Given the description of an element on the screen output the (x, y) to click on. 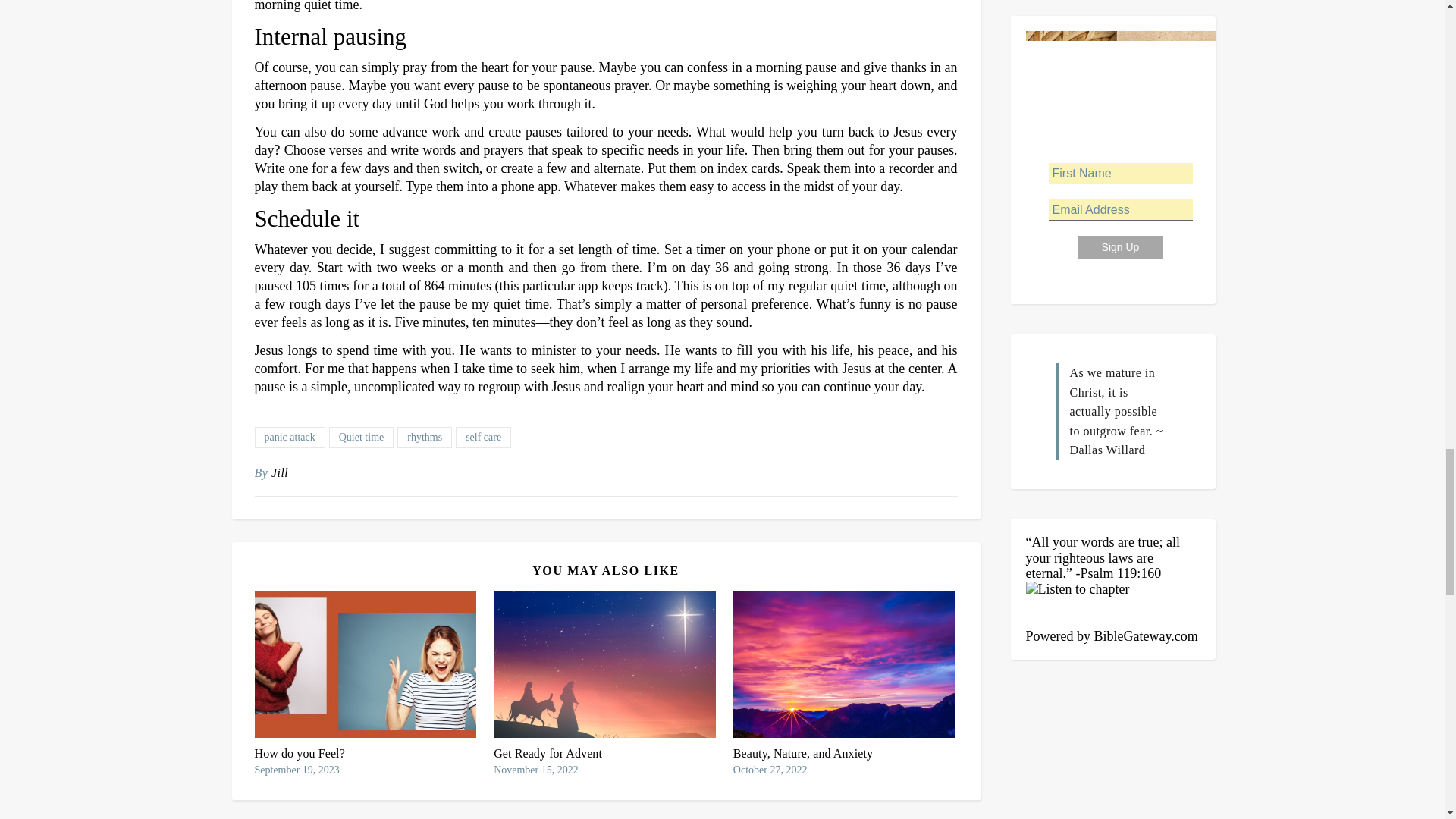
panic attack (289, 436)
Sign Up (1120, 246)
Listen to chapter (1112, 604)
Quiet time (361, 436)
